Given the description of an element on the screen output the (x, y) to click on. 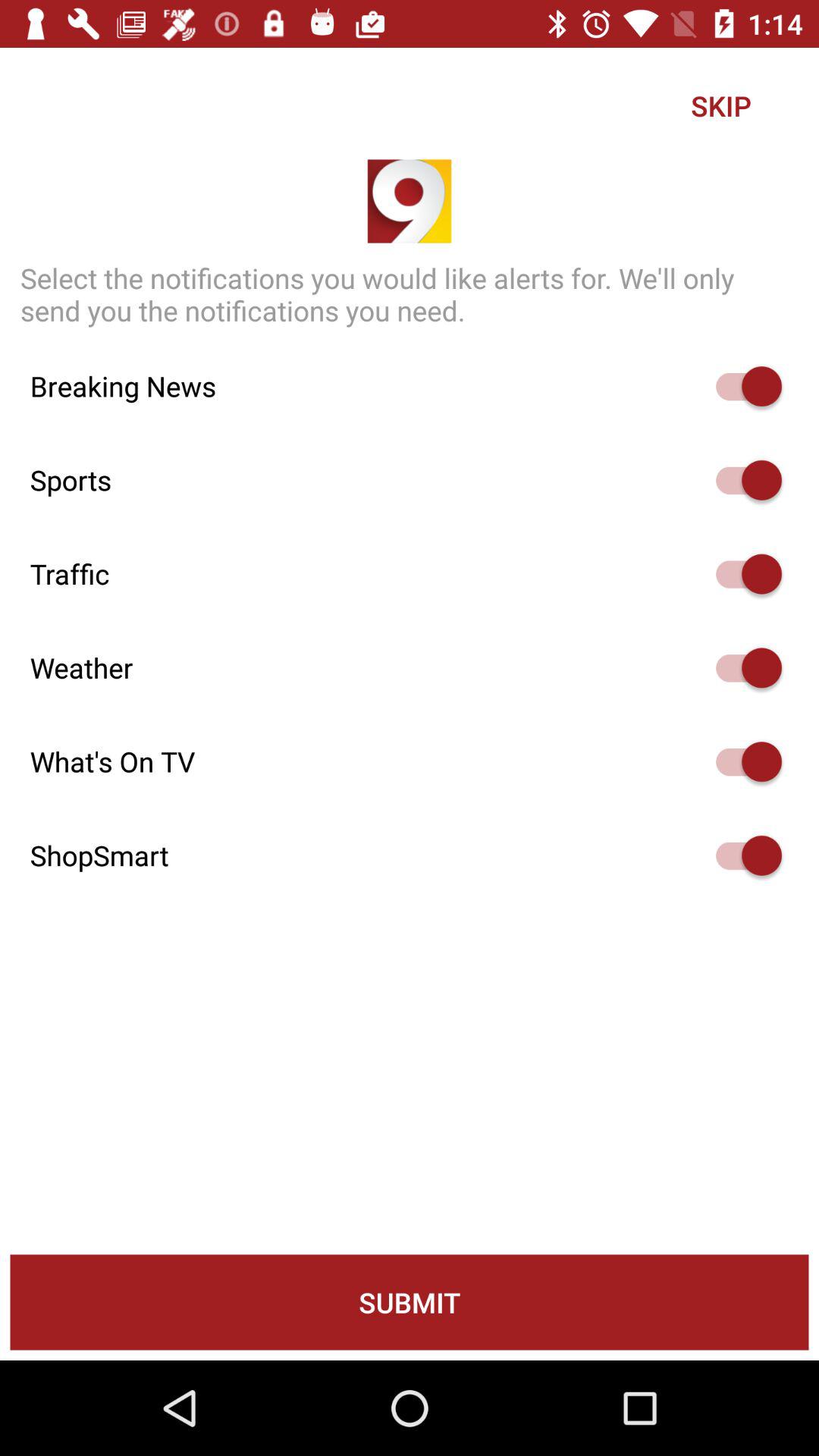
toggle option (741, 855)
